Given the description of an element on the screen output the (x, y) to click on. 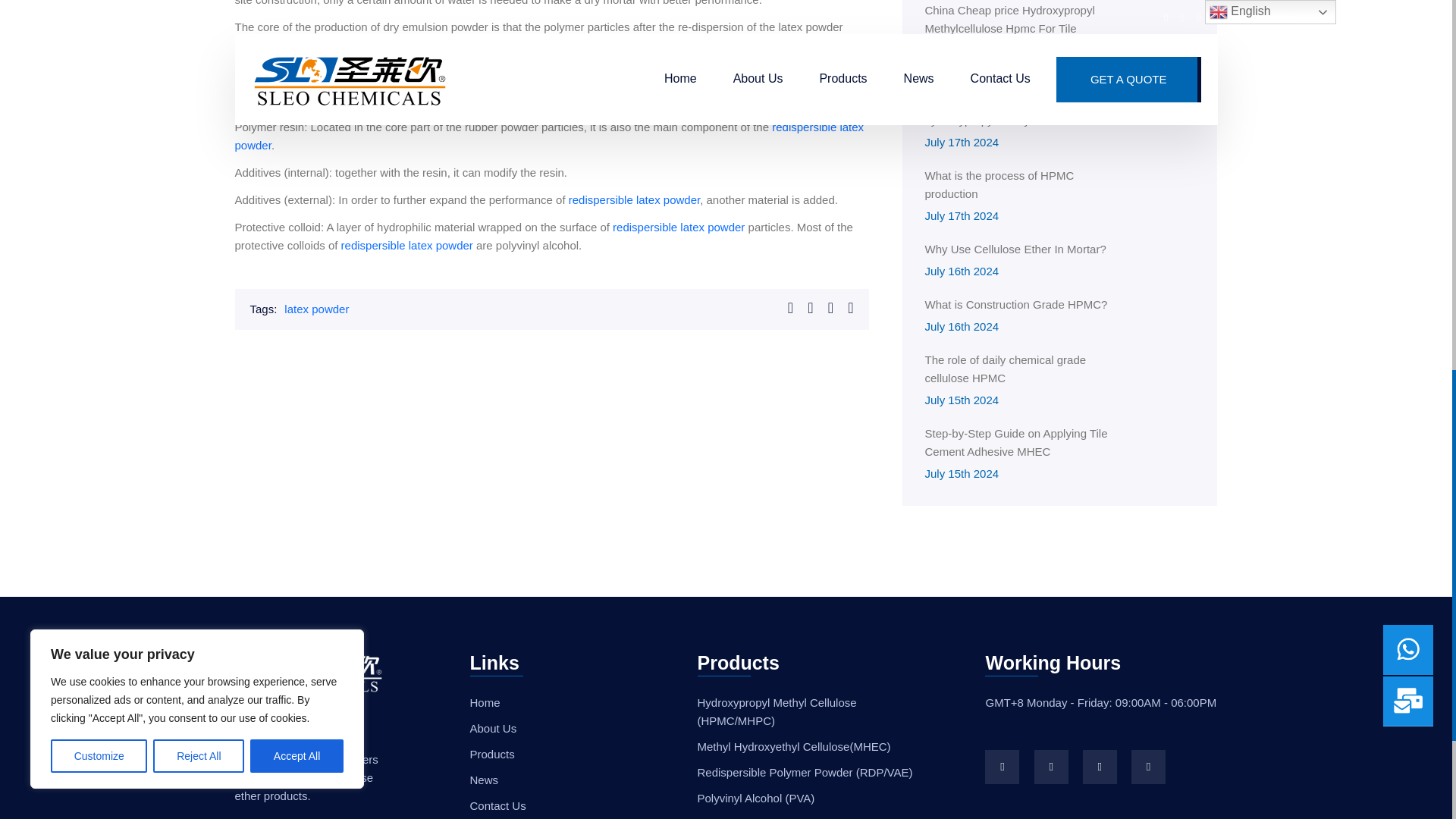
redispersible latex powder (634, 199)
Facebook (1002, 766)
whatsapp (1148, 766)
Twitter (1099, 766)
redispersible latex powder (406, 245)
redispersible latex powder (678, 226)
latex powder (316, 308)
Linkedin (1050, 766)
redispersible latex powder (549, 135)
